Given the description of an element on the screen output the (x, y) to click on. 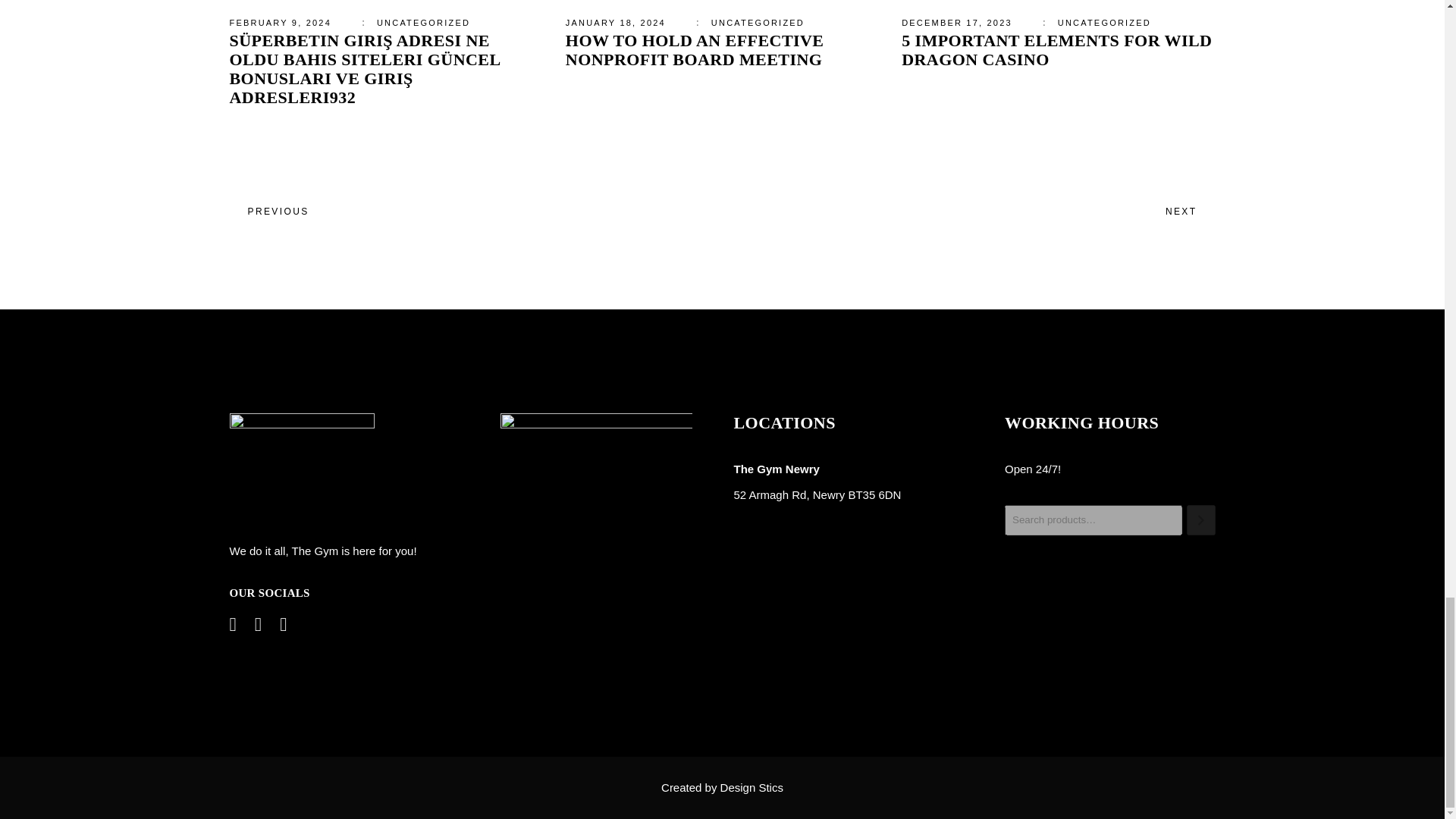
How to Hold an Effective Nonprofit Board Meeting (695, 49)
FEBRUARY 9, 2024 (279, 22)
5 Important Elements For Wild Dragon Casino (1056, 49)
JANUARY 18, 2024 (615, 22)
UNCATEGORIZED (423, 22)
